Given the description of an element on the screen output the (x, y) to click on. 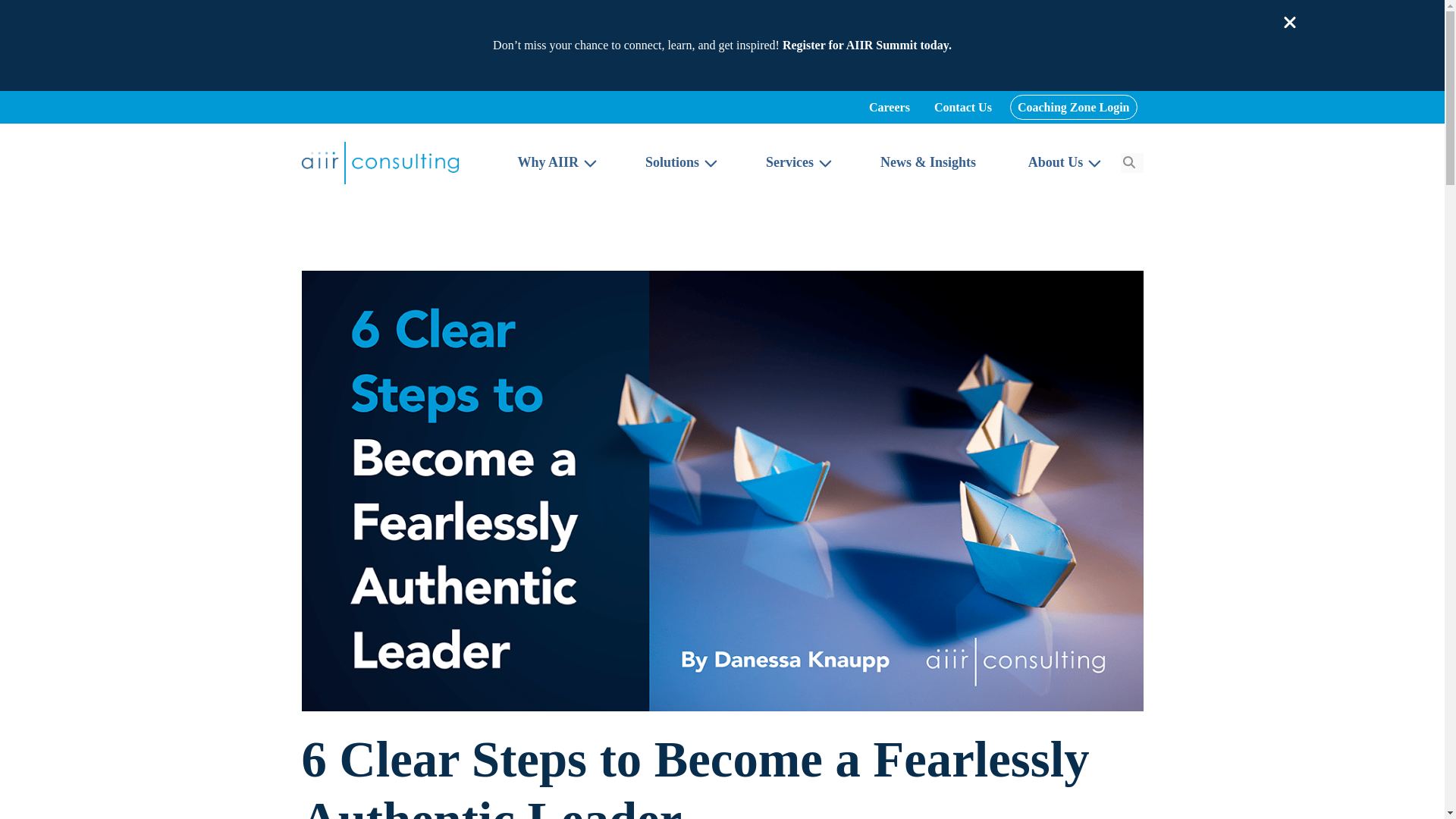
Services (796, 162)
Register for AIIR Summit today. (867, 44)
About Us (1062, 162)
Coaching Zone Login (1073, 107)
Contact Us (962, 107)
Search for: (1131, 162)
Why AIIR (554, 162)
Careers (889, 107)
Solutions (679, 162)
Submit (1128, 162)
